Given the description of an element on the screen output the (x, y) to click on. 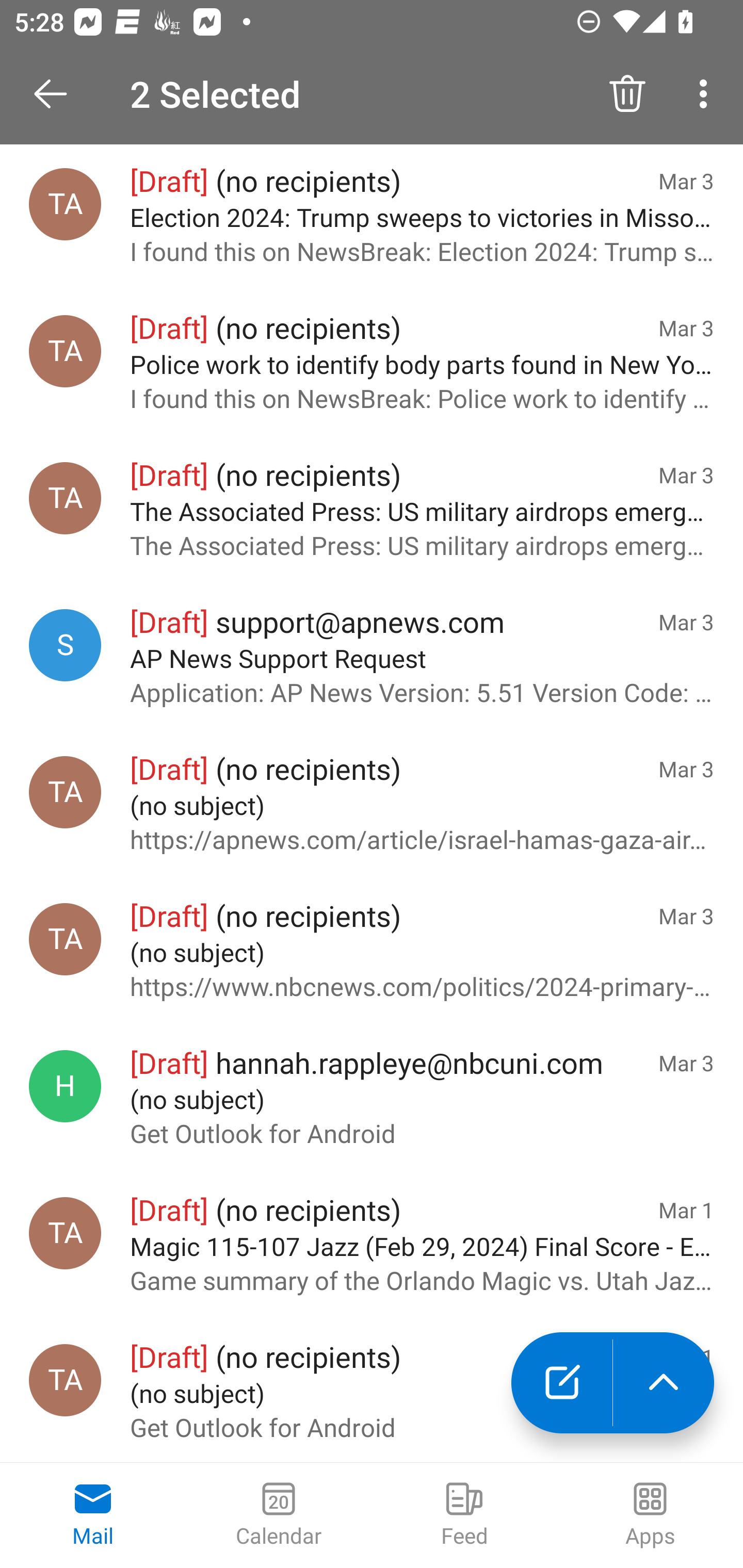
Delete (626, 93)
More options (706, 93)
Open Navigation Drawer (57, 94)
Test Appium, testappium002@outlook.com (64, 203)
Test Appium, testappium002@outlook.com (64, 351)
Test Appium, testappium002@outlook.com (64, 498)
support@apnews.com (64, 645)
Test Appium, testappium002@outlook.com (64, 791)
Test Appium, testappium002@outlook.com (64, 939)
hannah.rappleye@nbcuni.com (64, 1086)
Test Appium, testappium002@outlook.com (64, 1233)
New mail (561, 1382)
launch the extended action menu (663, 1382)
Test Appium, testappium002@outlook.com (64, 1379)
Calendar (278, 1515)
Feed (464, 1515)
Apps (650, 1515)
